Given the description of an element on the screen output the (x, y) to click on. 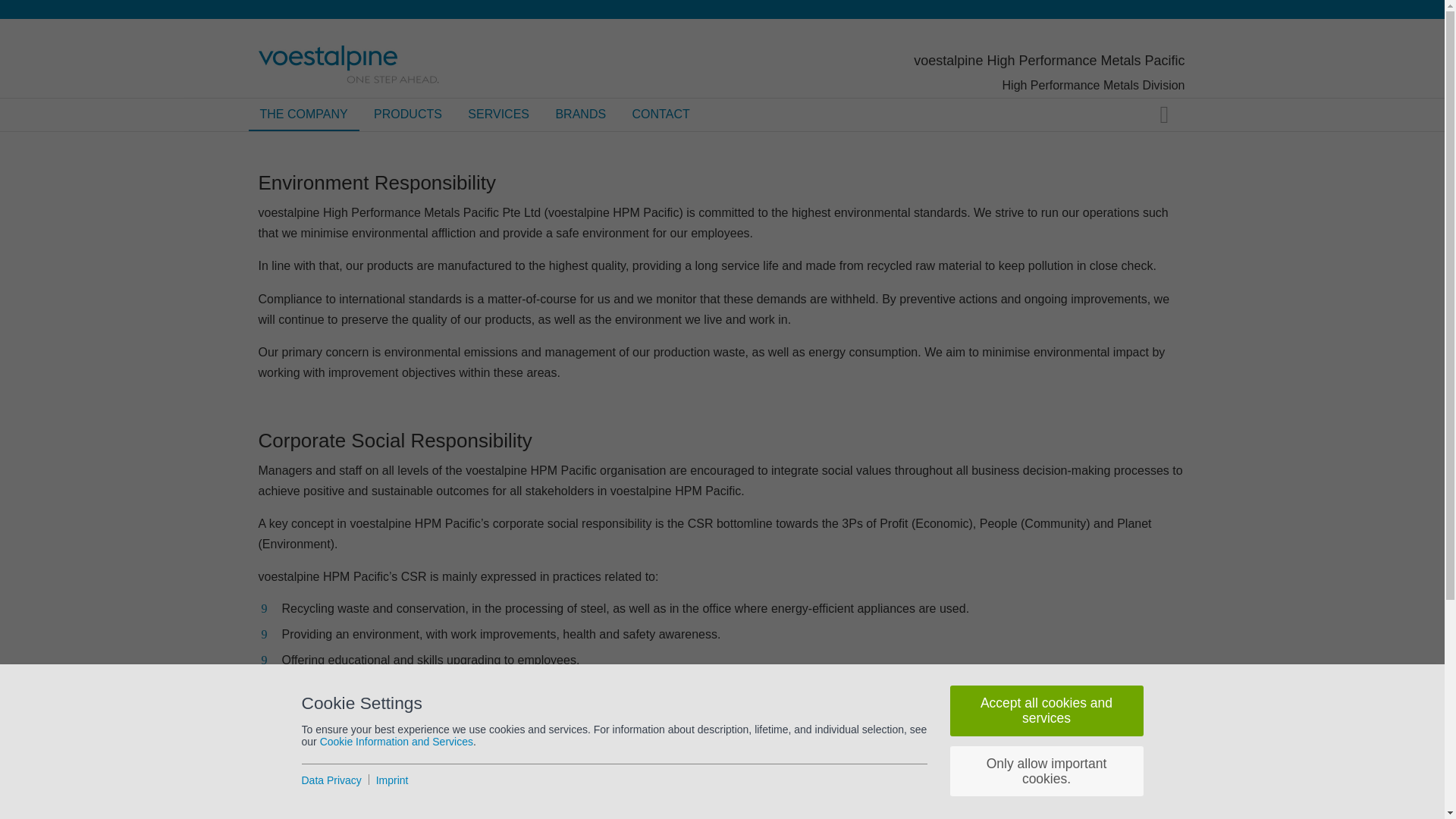
CONTACT (661, 114)
THE COMPANY (303, 114)
voestalpine High Performance Metals Pacific (1049, 60)
High Performance Metals Division (1094, 85)
BRANDS (580, 114)
SERVICES (498, 114)
PRODUCTS (407, 114)
